Given the description of an element on the screen output the (x, y) to click on. 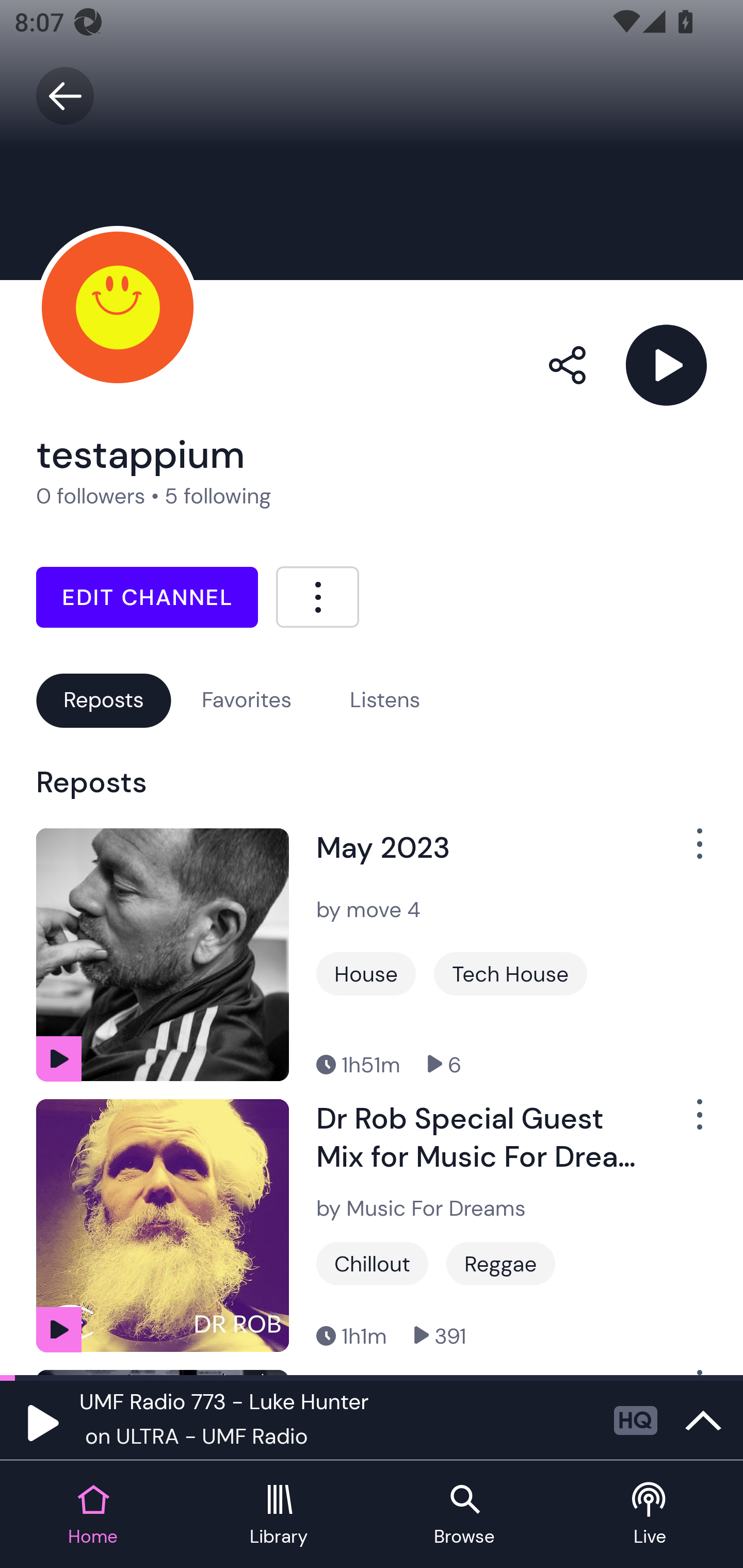
0 followers (90, 495)
5 following (217, 495)
More Menu (317, 596)
Edit Channel EDIT CHANNEL (146, 597)
Reposts (103, 699)
Favorites (246, 699)
Listens (384, 699)
Show Options Menu Button (688, 850)
House (366, 973)
Tech House (509, 973)
Show Options Menu Button (688, 1122)
Chillout (371, 1263)
Reggae (500, 1263)
Home tab Home (92, 1515)
Library tab Library (278, 1515)
Browse tab Browse (464, 1515)
Live tab Live (650, 1515)
